Given the description of an element on the screen output the (x, y) to click on. 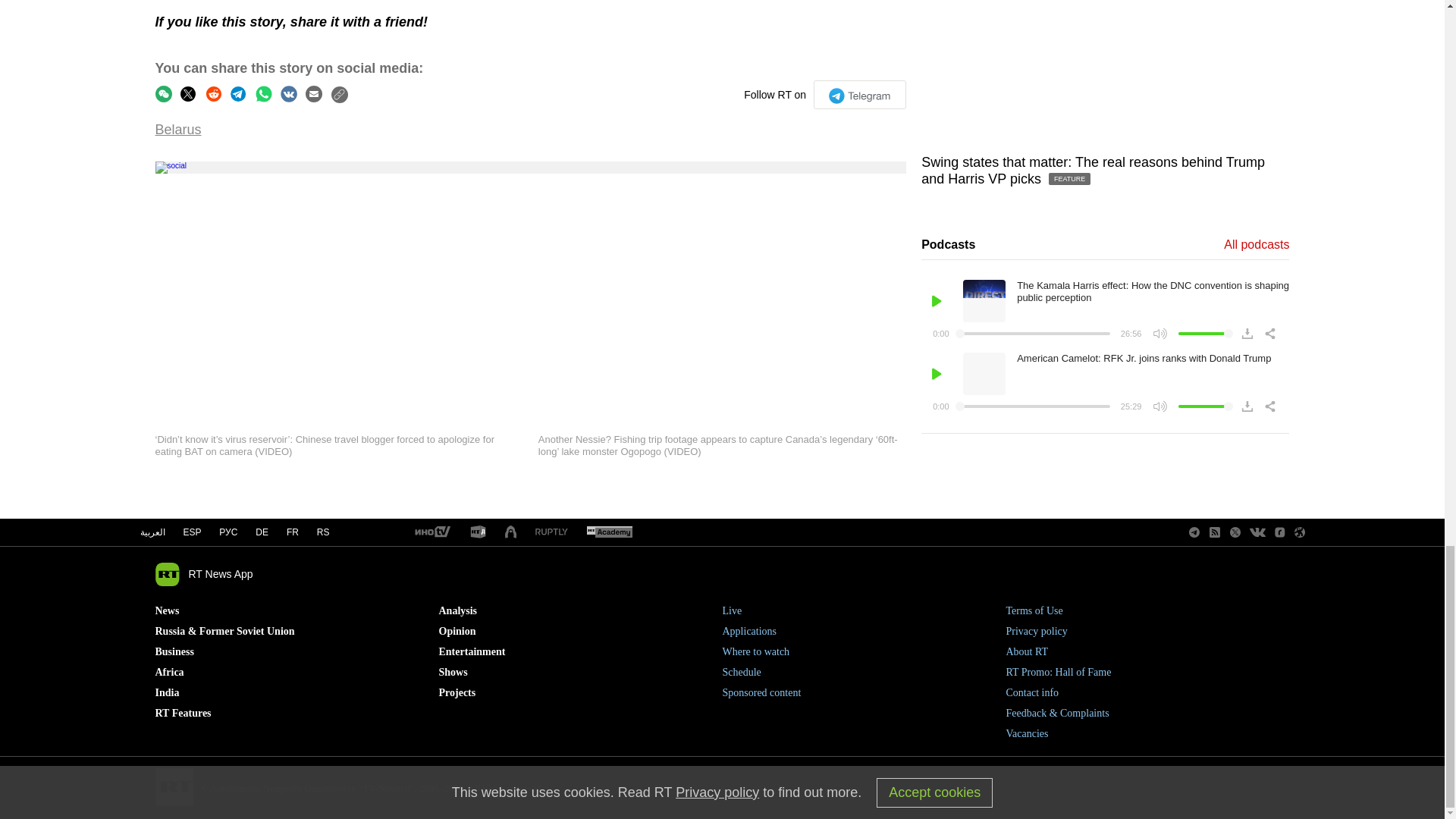
RT  (431, 532)
RT  (608, 532)
RT  (551, 532)
RT  (478, 532)
